Given the description of an element on the screen output the (x, y) to click on. 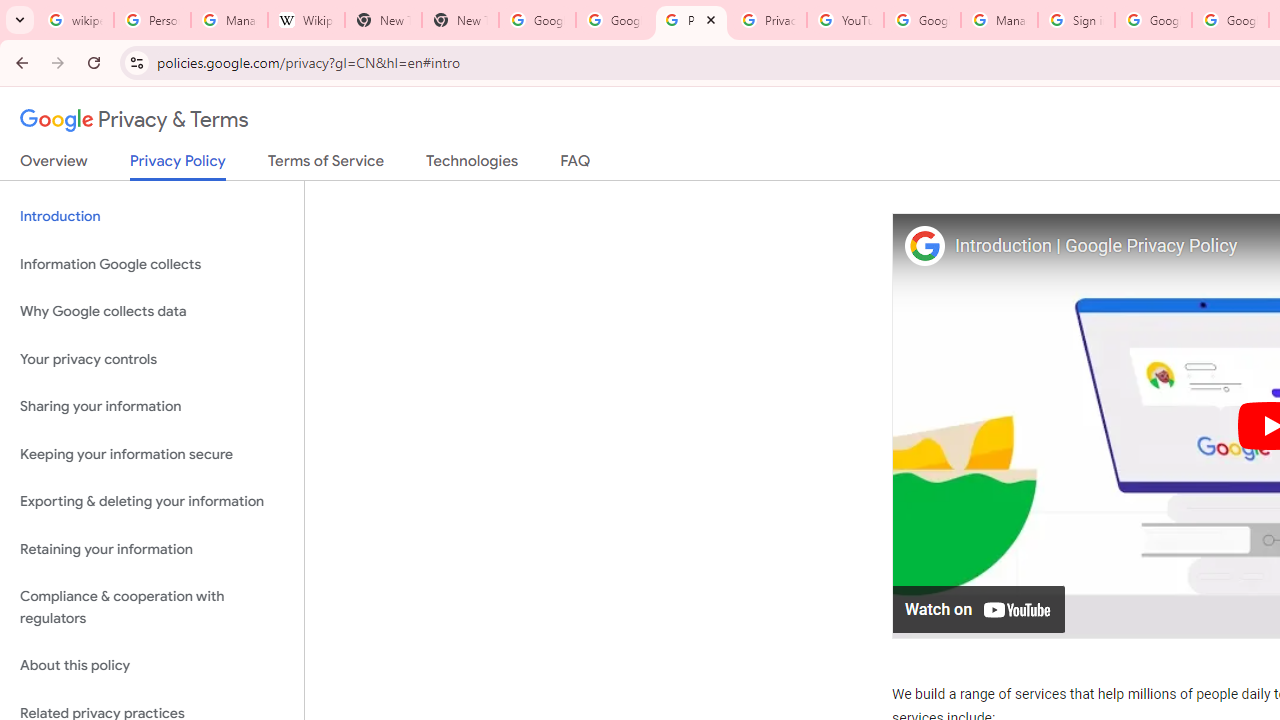
Information Google collects (152, 263)
Manage your Location History - Google Search Help (228, 20)
About this policy (152, 666)
